Given the description of an element on the screen output the (x, y) to click on. 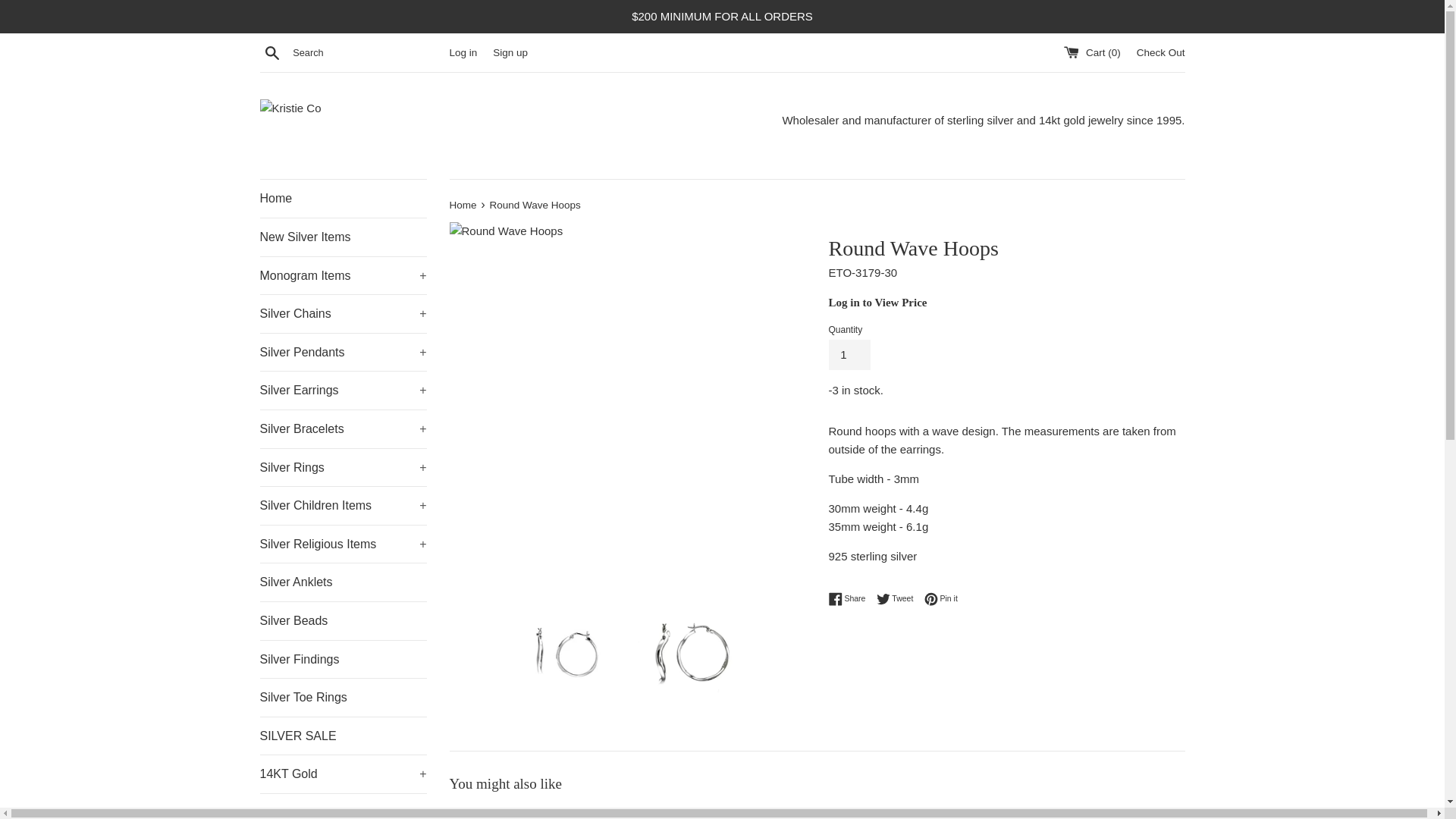
Share on Facebook (850, 599)
3mm Round Hoops (563, 814)
1 (848, 354)
Round CZ Studs (1070, 814)
Pin on Pinterest (941, 599)
Back to the frontpage (463, 204)
Check Out (1161, 52)
Tweet on Twitter (898, 599)
Home (342, 198)
Search (271, 52)
New Silver Items (342, 237)
Sign up (510, 52)
3mm Birthstone Earrings (816, 814)
Log in (462, 52)
